Given the description of an element on the screen output the (x, y) to click on. 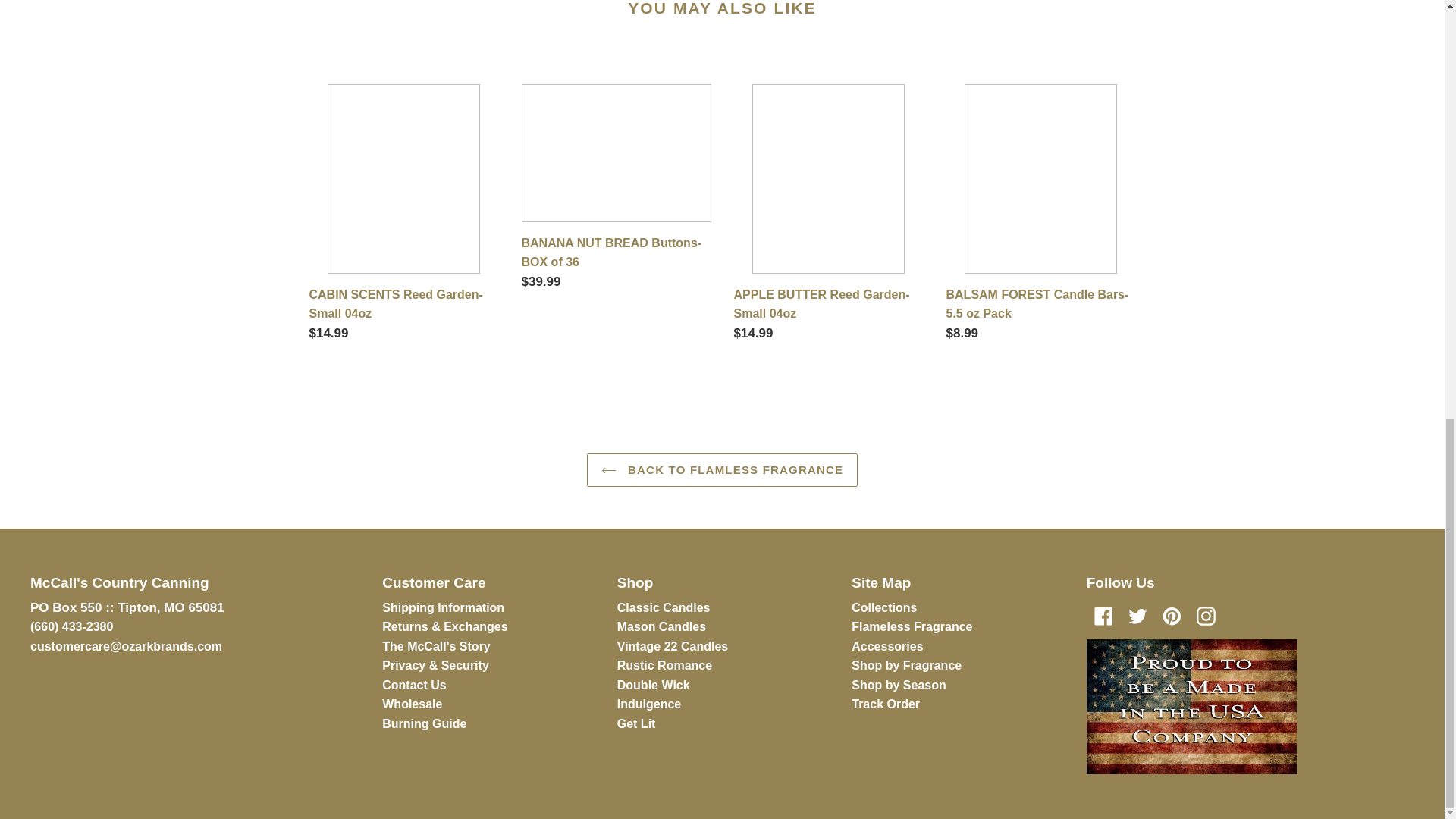
Contact McCall's Candles (126, 645)
McCall's Candles - Made in America (1191, 706)
Call Us! (71, 626)
